Given the description of an element on the screen output the (x, y) to click on. 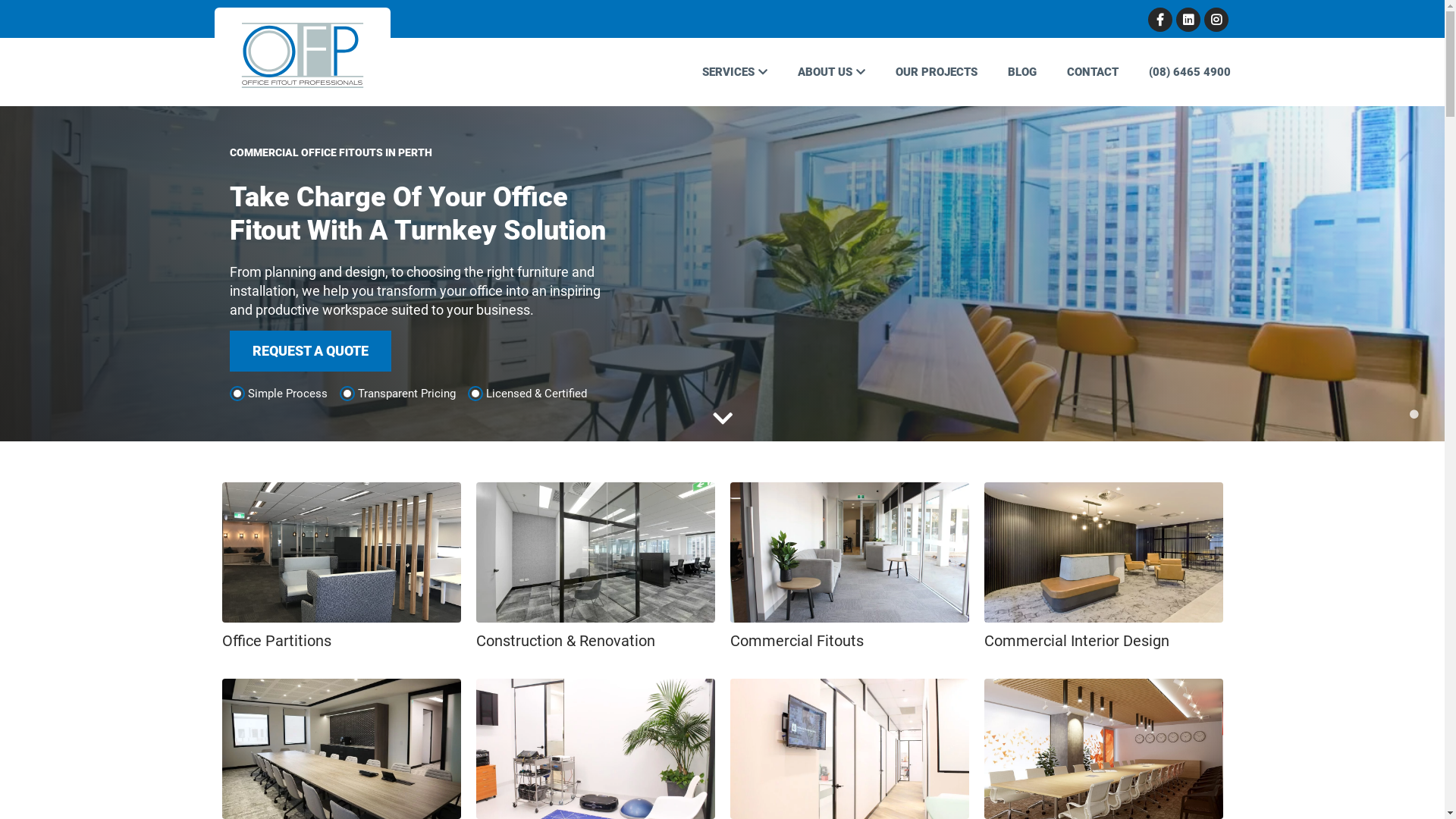
BLOG Element type: text (1021, 71)
ABOUT US Element type: text (831, 71)
Construction & Renovation Element type: text (595, 572)
CONTACT Element type: text (1091, 71)
Office Partitions Element type: text (340, 572)
Commercial Fitouts Element type: text (848, 572)
1 Element type: text (1413, 414)
  Element type: text (1188, 19)
  Element type: text (1217, 19)
Commercial Interior Design Element type: text (1103, 572)
  Element type: text (1161, 19)
(08) 6465 4900 Element type: text (1181, 71)
SERVICES Element type: text (734, 71)
REQUEST A QUOTE Element type: text (309, 350)
OUR PROJECTS Element type: text (935, 71)
